Given the description of an element on the screen output the (x, y) to click on. 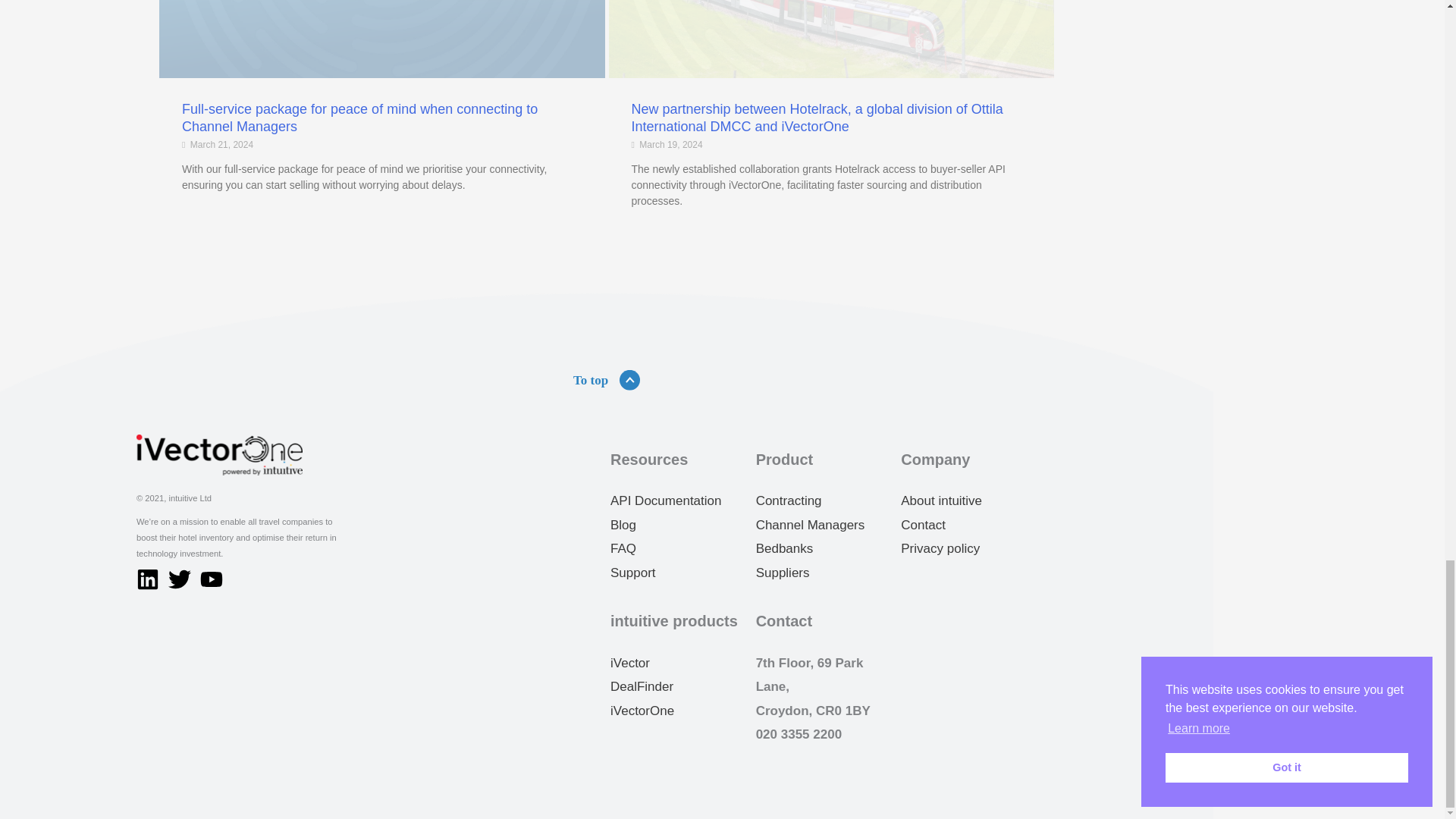
Support (633, 572)
API Documentation (665, 500)
FAQ (623, 548)
Channel Managers (809, 524)
Contracting (788, 500)
Blog (623, 524)
Bedbanks (784, 548)
